Given the description of an element on the screen output the (x, y) to click on. 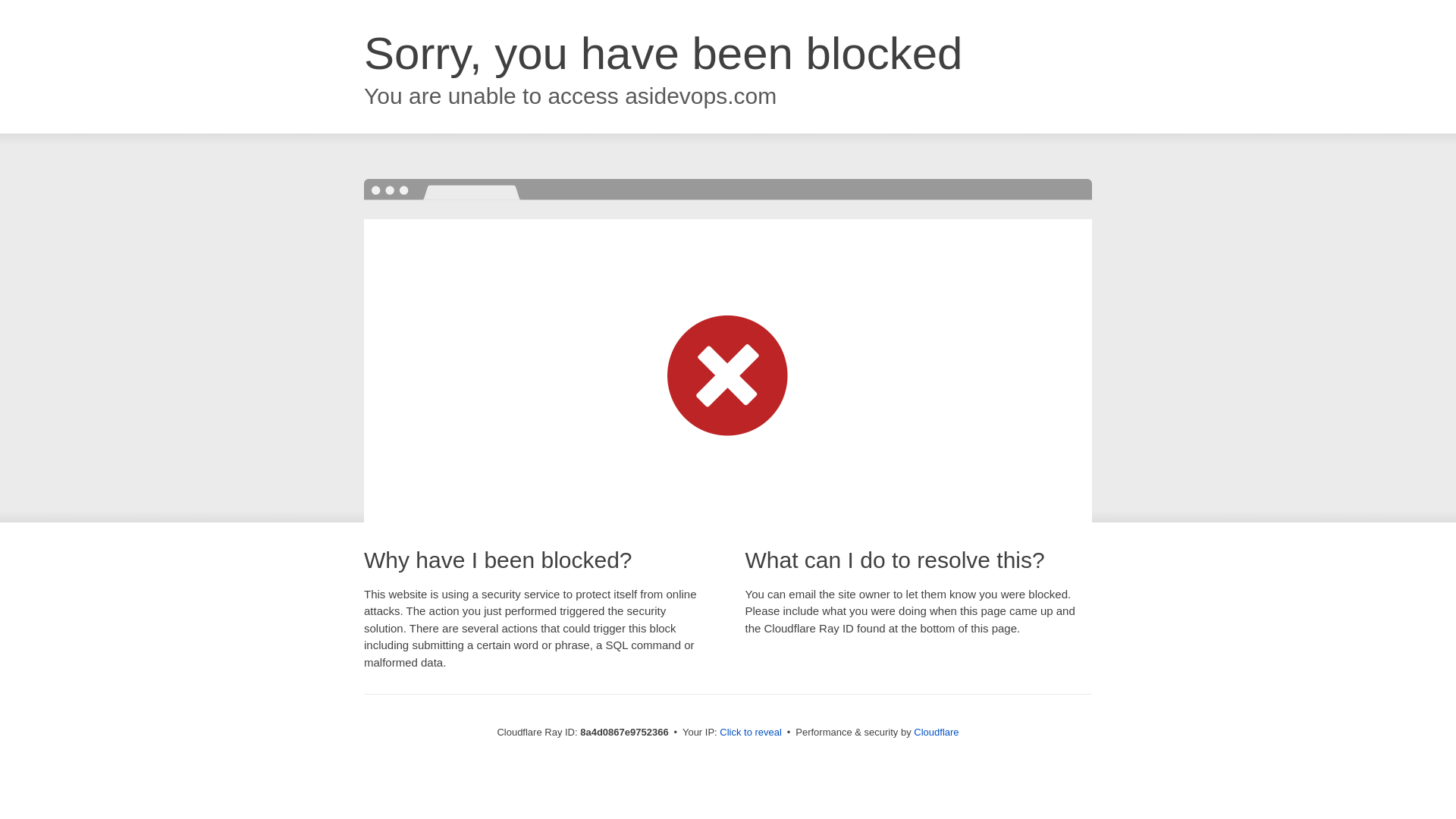
Click to reveal (750, 732)
Cloudflare (936, 731)
